Given the description of an element on the screen output the (x, y) to click on. 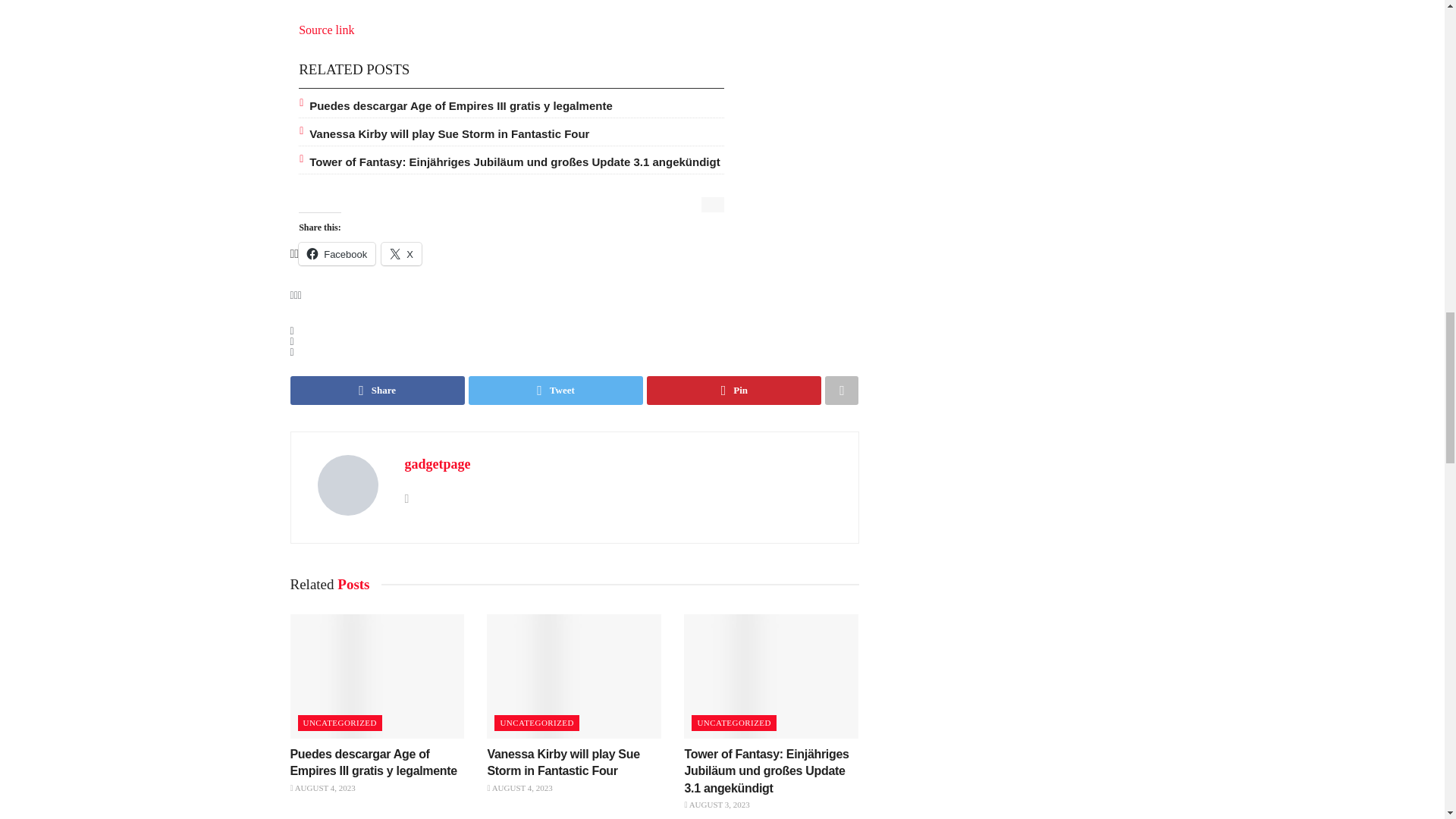
X (401, 253)
Vanessa Kirby will play Sue Storm in Fantastic Four (448, 133)
Share (376, 389)
Puedes descargar Age of Empires III gratis y legalmente (460, 105)
Click to share on X (401, 253)
Click to share on Facebook (336, 253)
Facebook (336, 253)
Source link (325, 29)
